Given the description of an element on the screen output the (x, y) to click on. 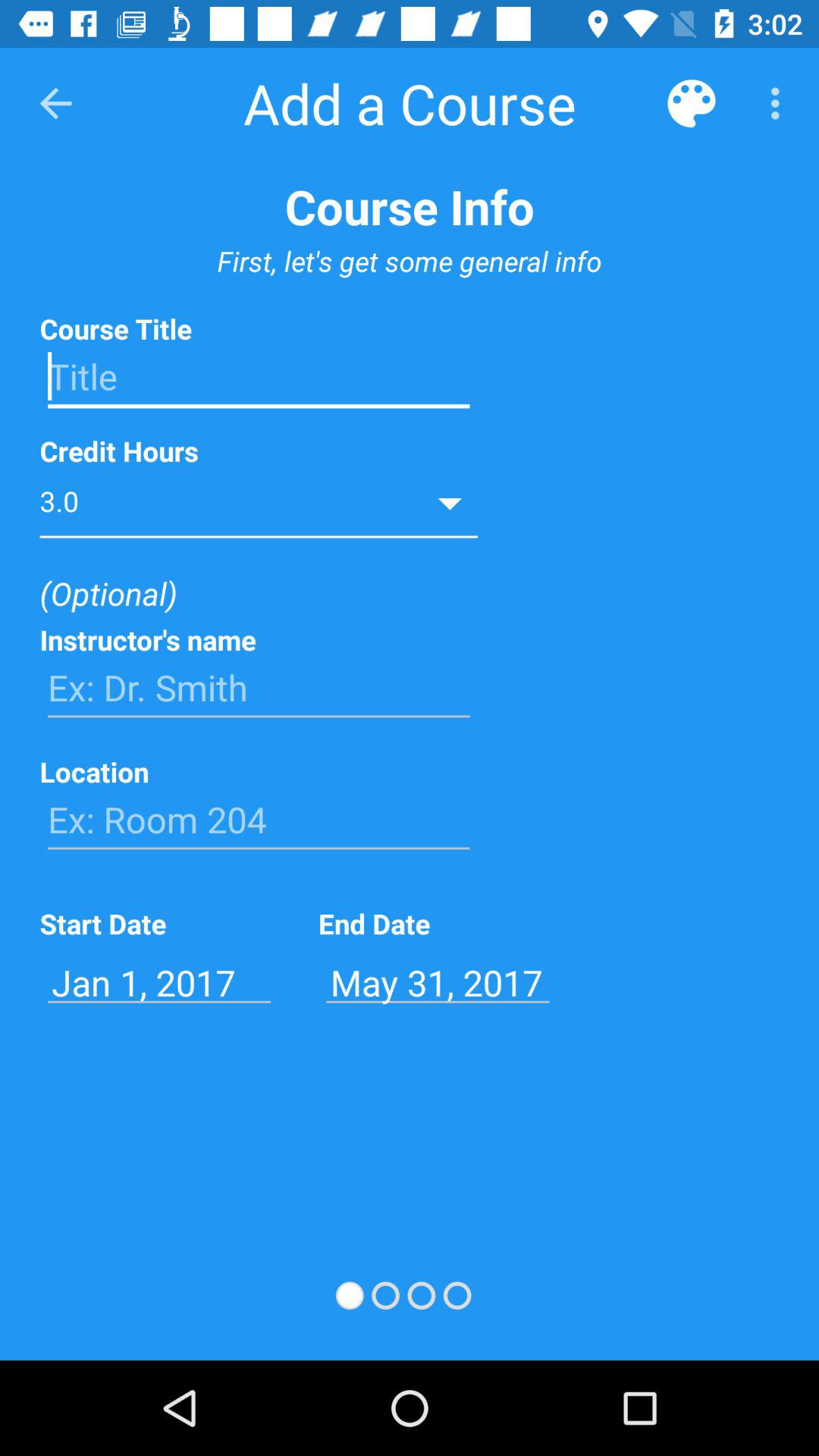
click to enter location (258, 820)
